Given the description of an element on the screen output the (x, y) to click on. 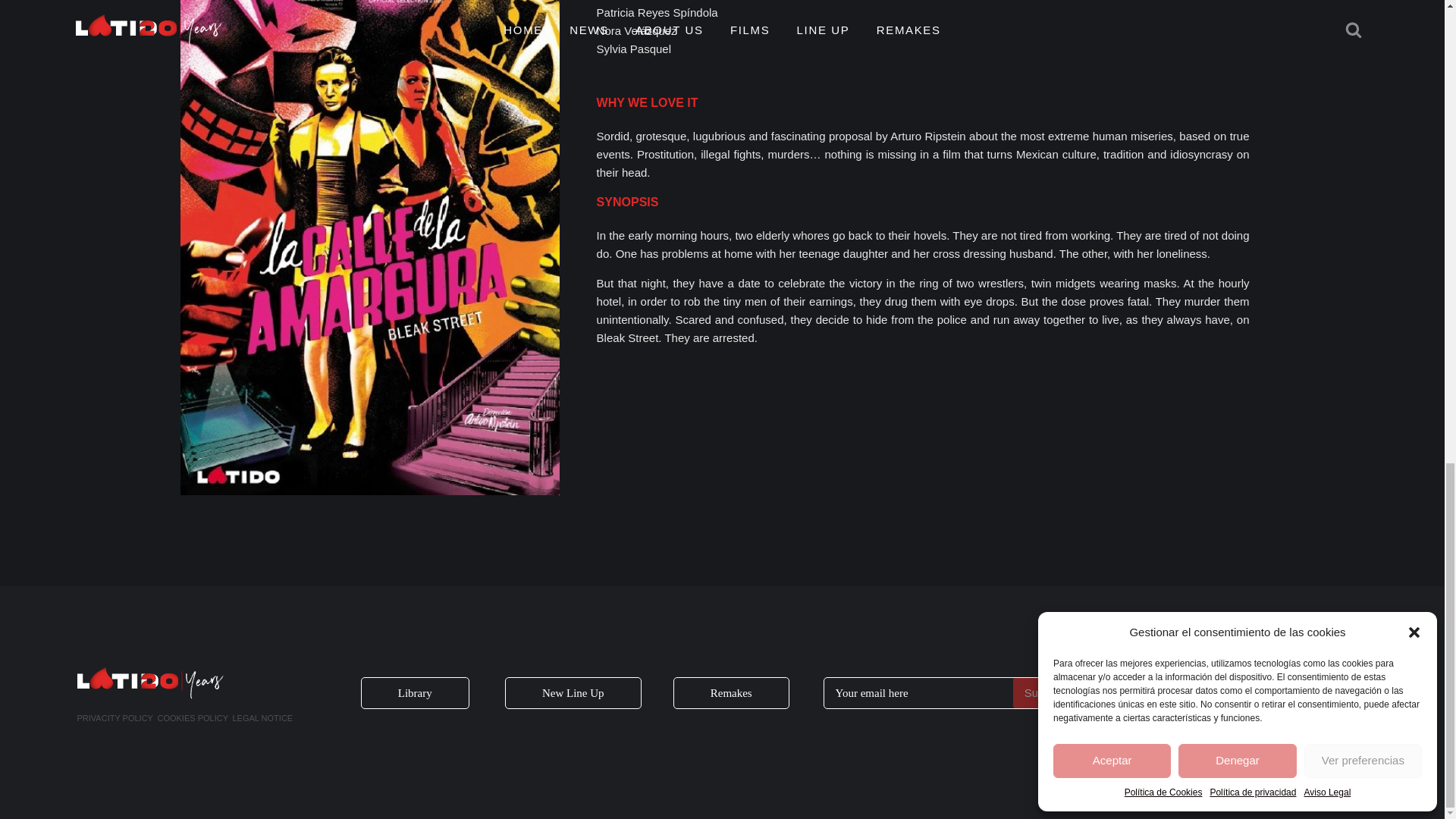
New Line Up (573, 693)
PRIVACITY POLICY (114, 718)
Subscribe (1048, 693)
Library (414, 693)
COOKIES POLICY (192, 718)
LEGAL NOTICE (261, 718)
Remakes (730, 693)
